Given the description of an element on the screen output the (x, y) to click on. 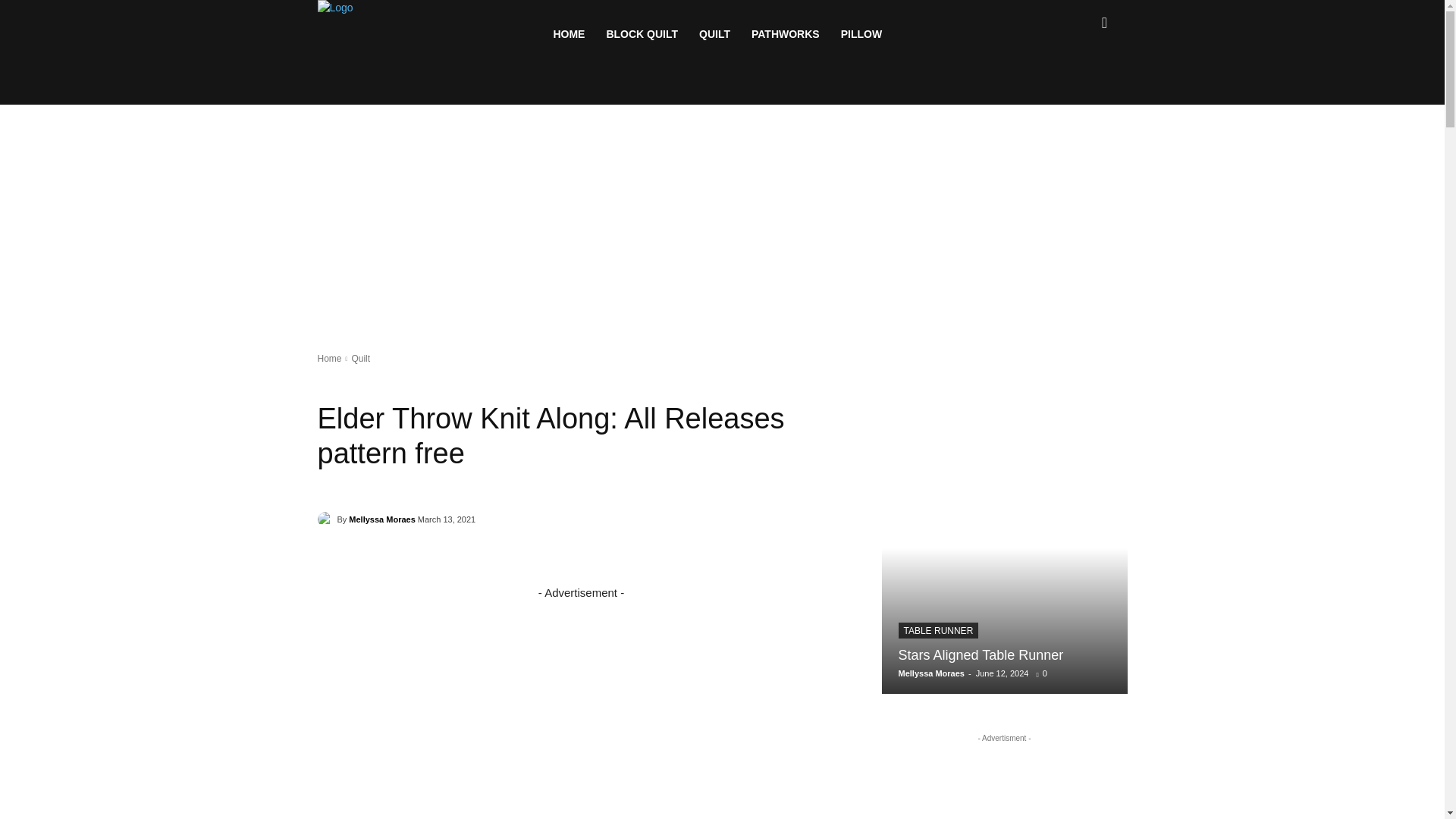
HOME (568, 33)
View all posts in Quilt (359, 357)
Mellyssa Moraes (381, 518)
PATHWORKS (785, 33)
Mellyssa Moraes (326, 519)
PILLOW (860, 33)
criativepatterns.com (568, 33)
Quilt (359, 357)
Home (328, 357)
BLOCK QUILT (641, 33)
QUILT (714, 33)
